Given the description of an element on the screen output the (x, y) to click on. 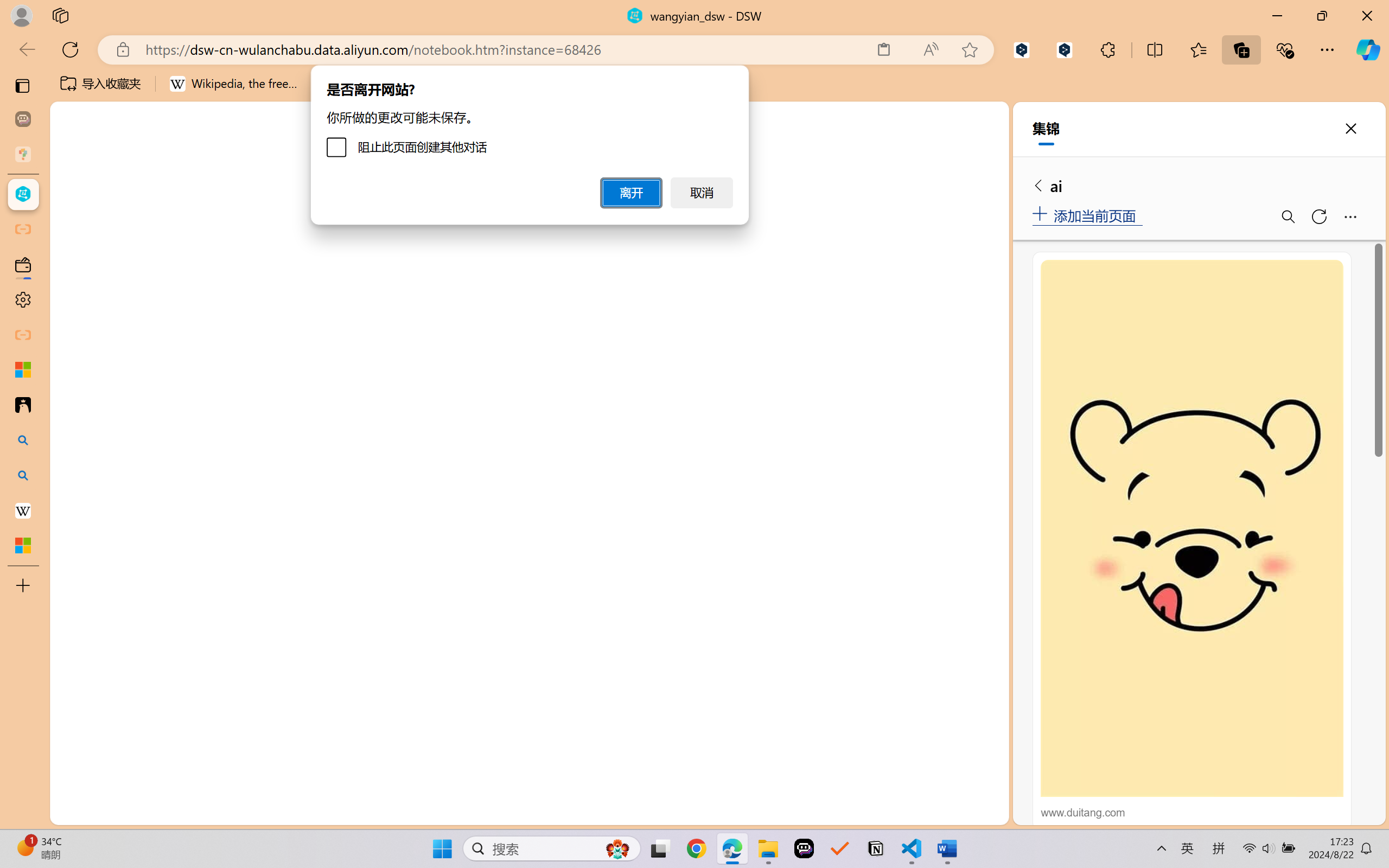
Forwarded Ports: 36301, 47065, 38781, 45817, 50331 (167, 812)
Problems (Ctrl+Shift+M) (308, 565)
Class: xterm-decoration-overview-ruler (885, 697)
Google Chrome (696, 848)
copilot-notconnected, Copilot error (click for details) (955, 812)
Customize Layout... (995, 159)
